Given the description of an element on the screen output the (x, y) to click on. 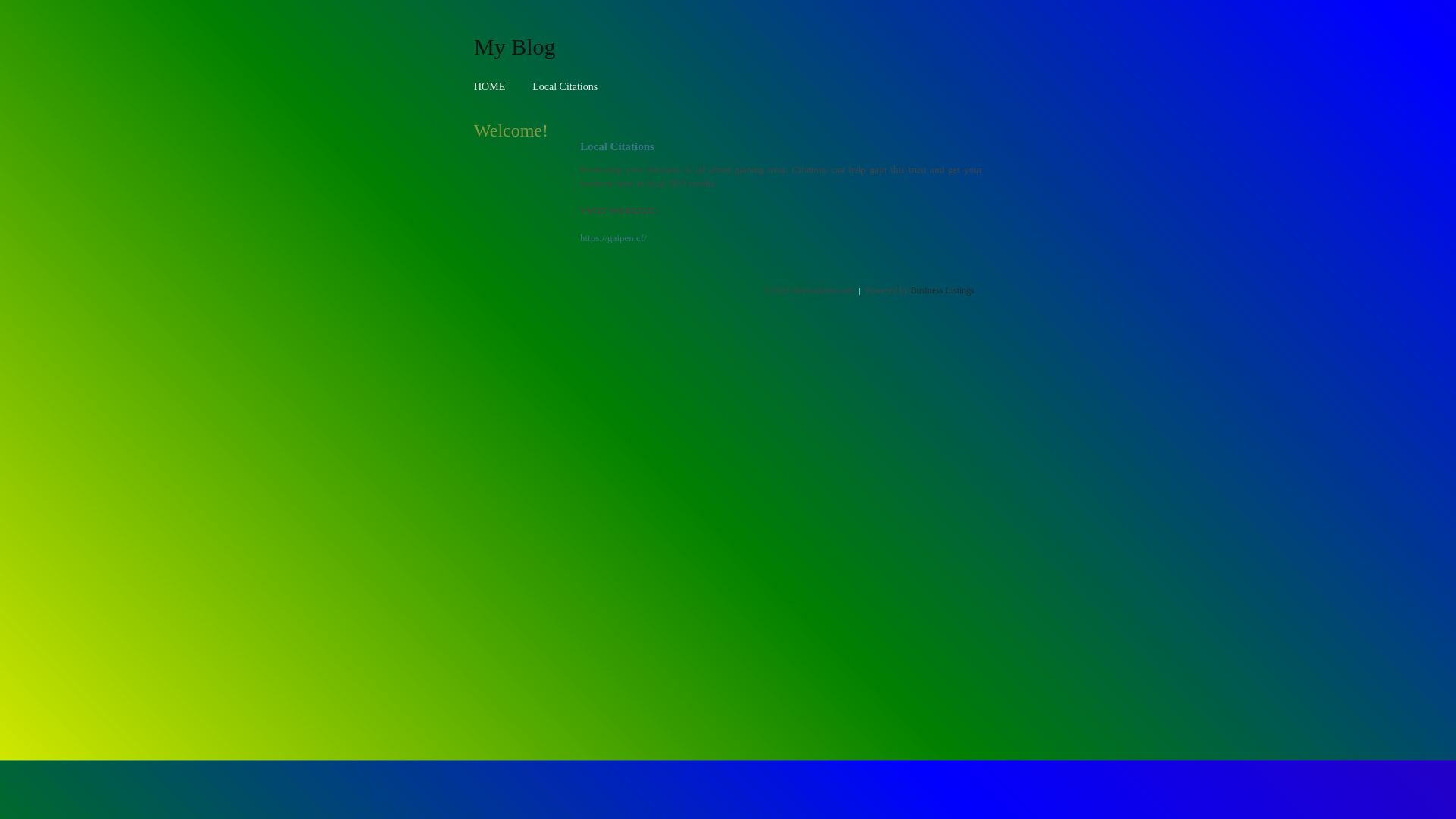
My Blog Element type: text (514, 46)
Business Listings Element type: text (942, 290)
Local Citations Element type: text (564, 86)
HOME Element type: text (489, 86)
https://gaipen.cf/ Element type: text (613, 237)
